Given the description of an element on the screen output the (x, y) to click on. 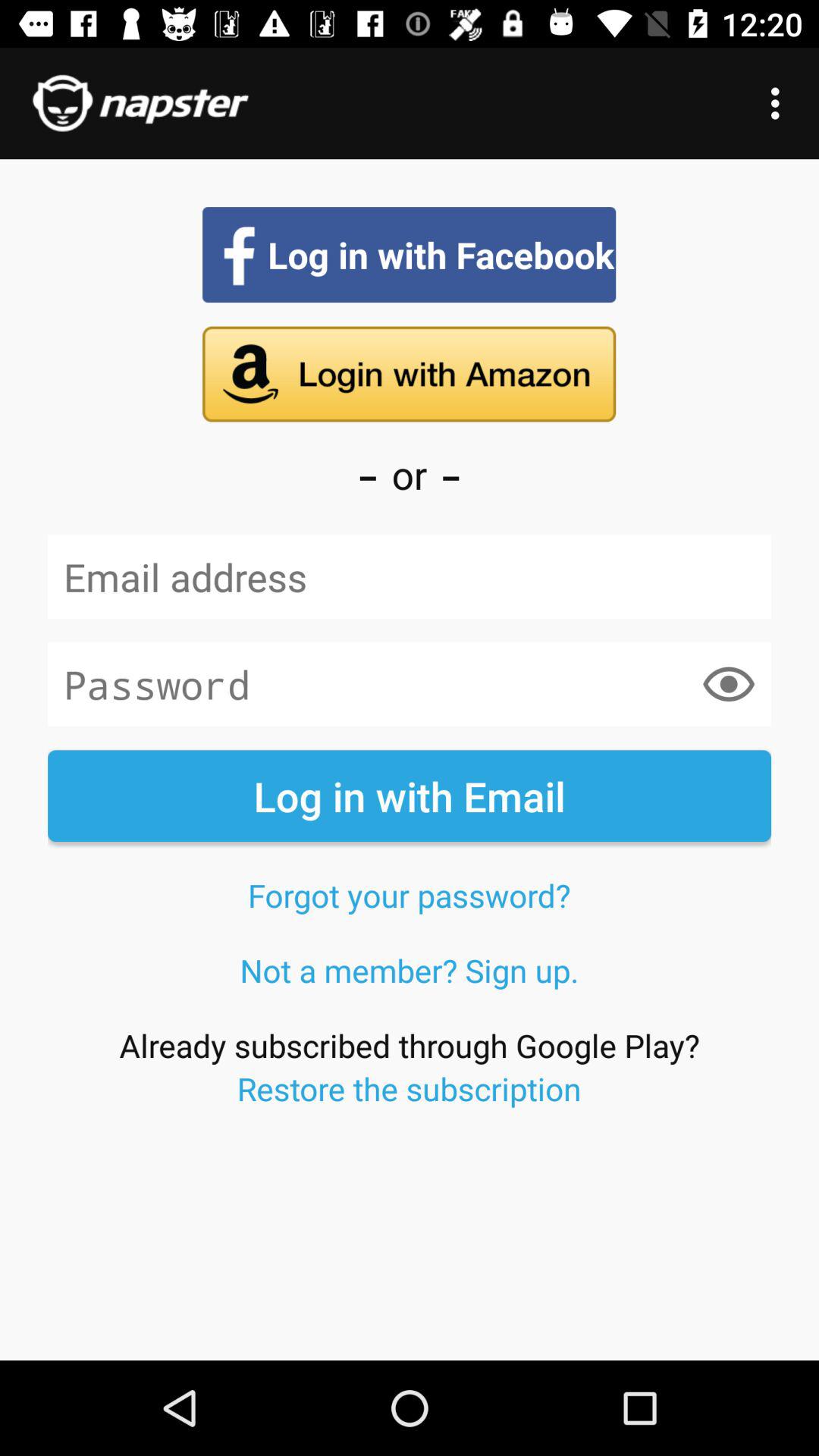
swipe to not a member (409, 969)
